Given the description of an element on the screen output the (x, y) to click on. 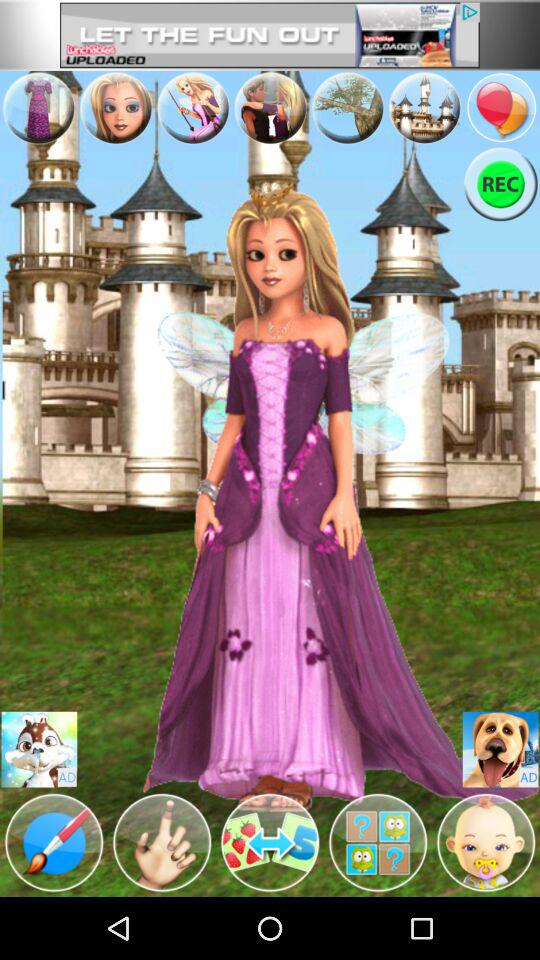
go to save (500, 749)
